Given the description of an element on the screen output the (x, y) to click on. 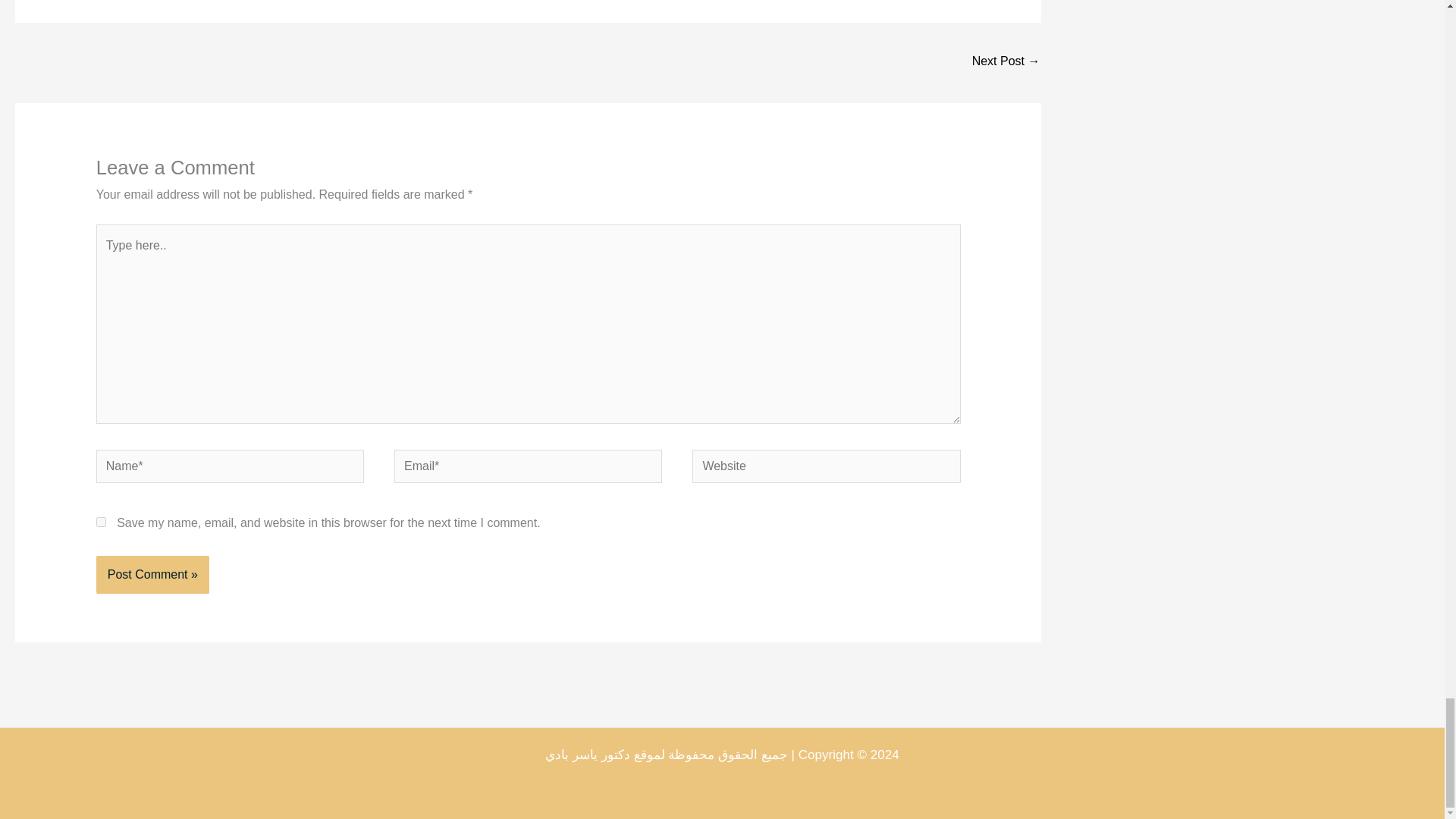
yes (101, 521)
Double chin liposuction (1006, 62)
